Given the description of an element on the screen output the (x, y) to click on. 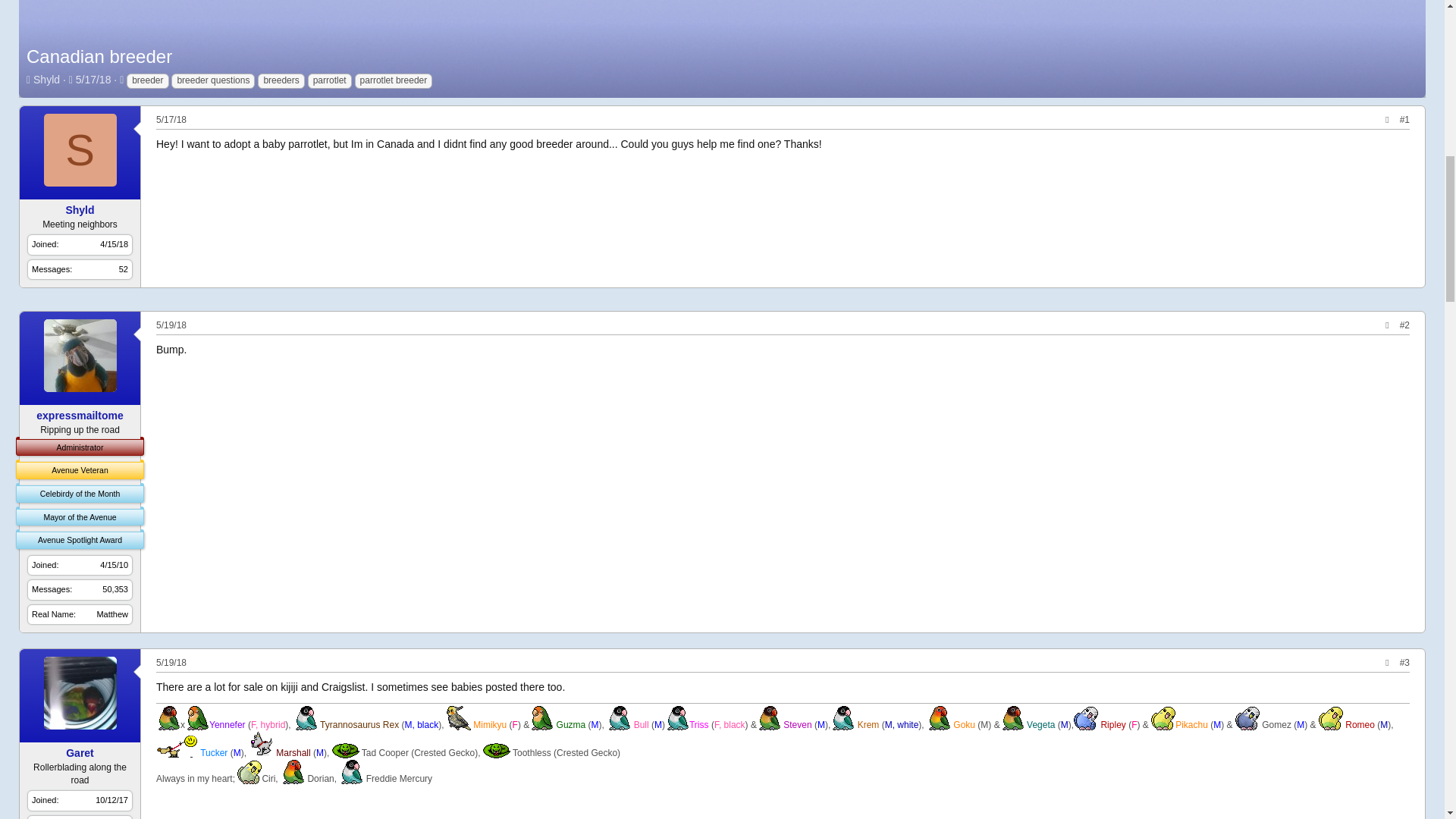
Bml    :bml: (305, 717)
S (79, 149)
Shyld (46, 79)
Pflb    :pflb: (196, 717)
parrotlet (329, 80)
breeders (280, 80)
Bml    :bml: (618, 717)
parrotlet breeder (393, 80)
breeder questions (212, 80)
Pearl    :pearl: (458, 717)
Flb    :flb: (167, 717)
Shyld (79, 209)
Flb    :flb: (768, 717)
Bml    :bml: (676, 717)
Pflb    :pflb: (541, 717)
